Given the description of an element on the screen output the (x, y) to click on. 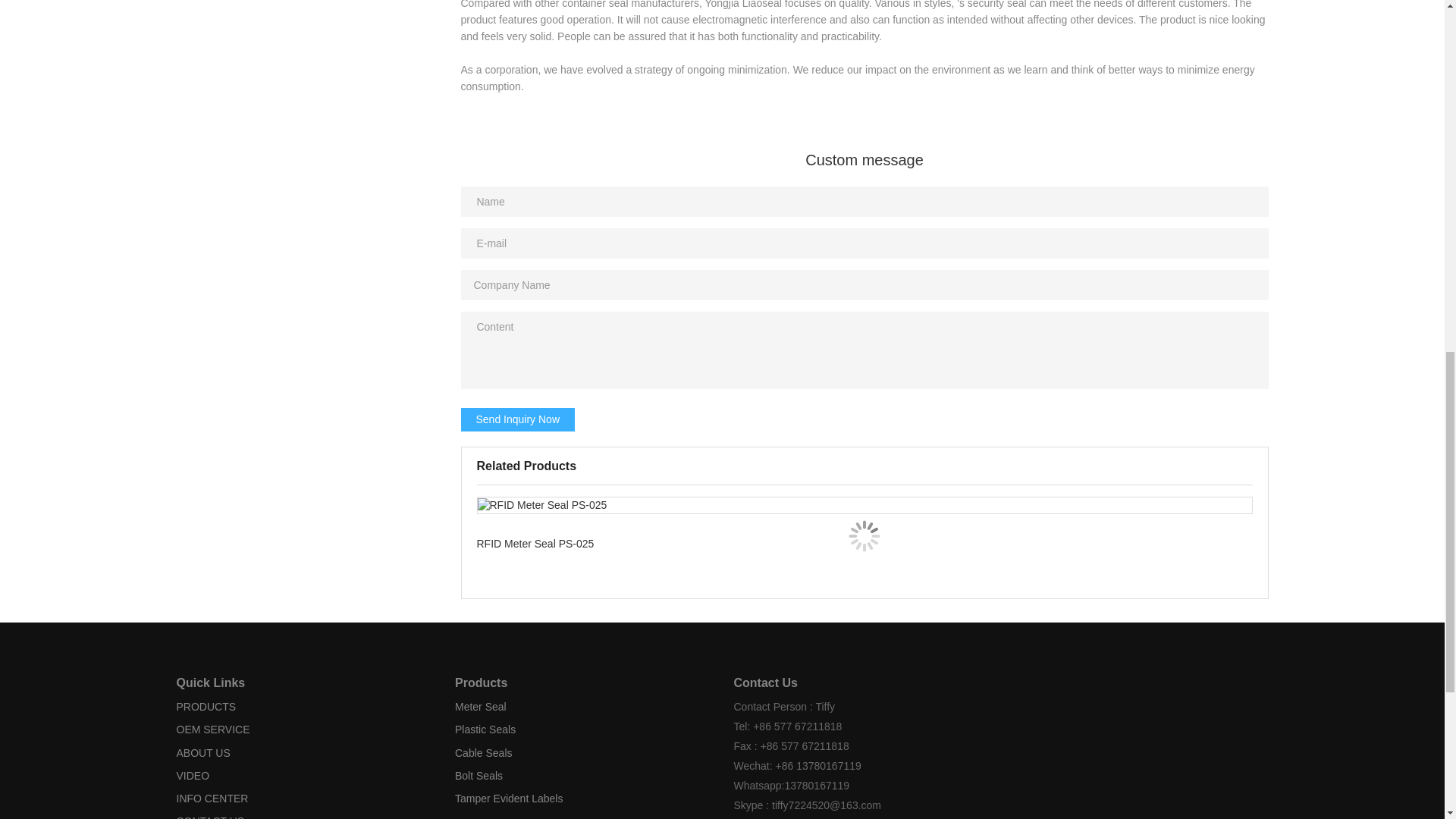
Send Inquiry Now (518, 419)
RFID Meter Seal PS-025 (864, 535)
